Given the description of an element on the screen output the (x, y) to click on. 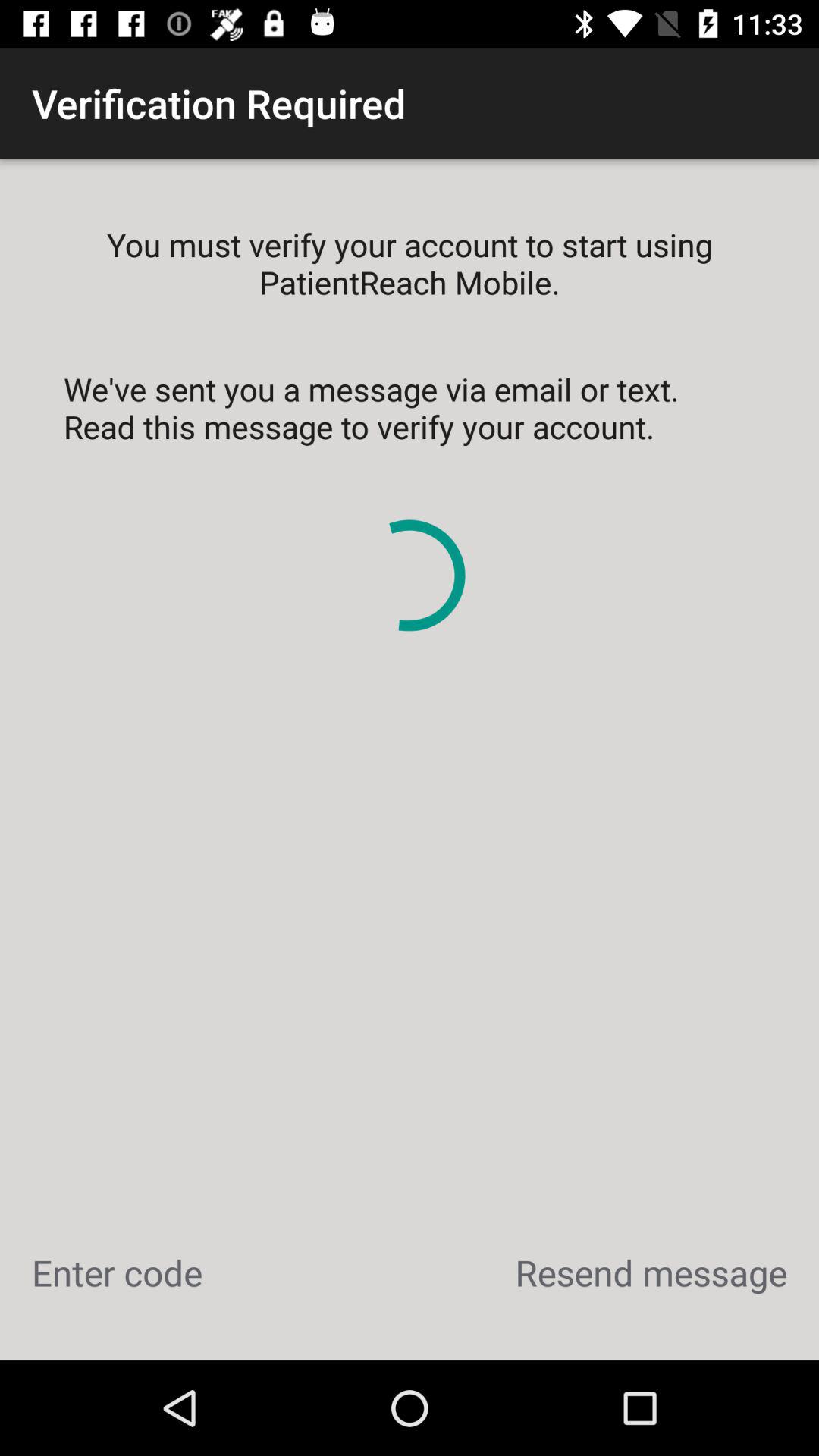
tap icon at the bottom right corner (651, 1272)
